Given the description of an element on the screen output the (x, y) to click on. 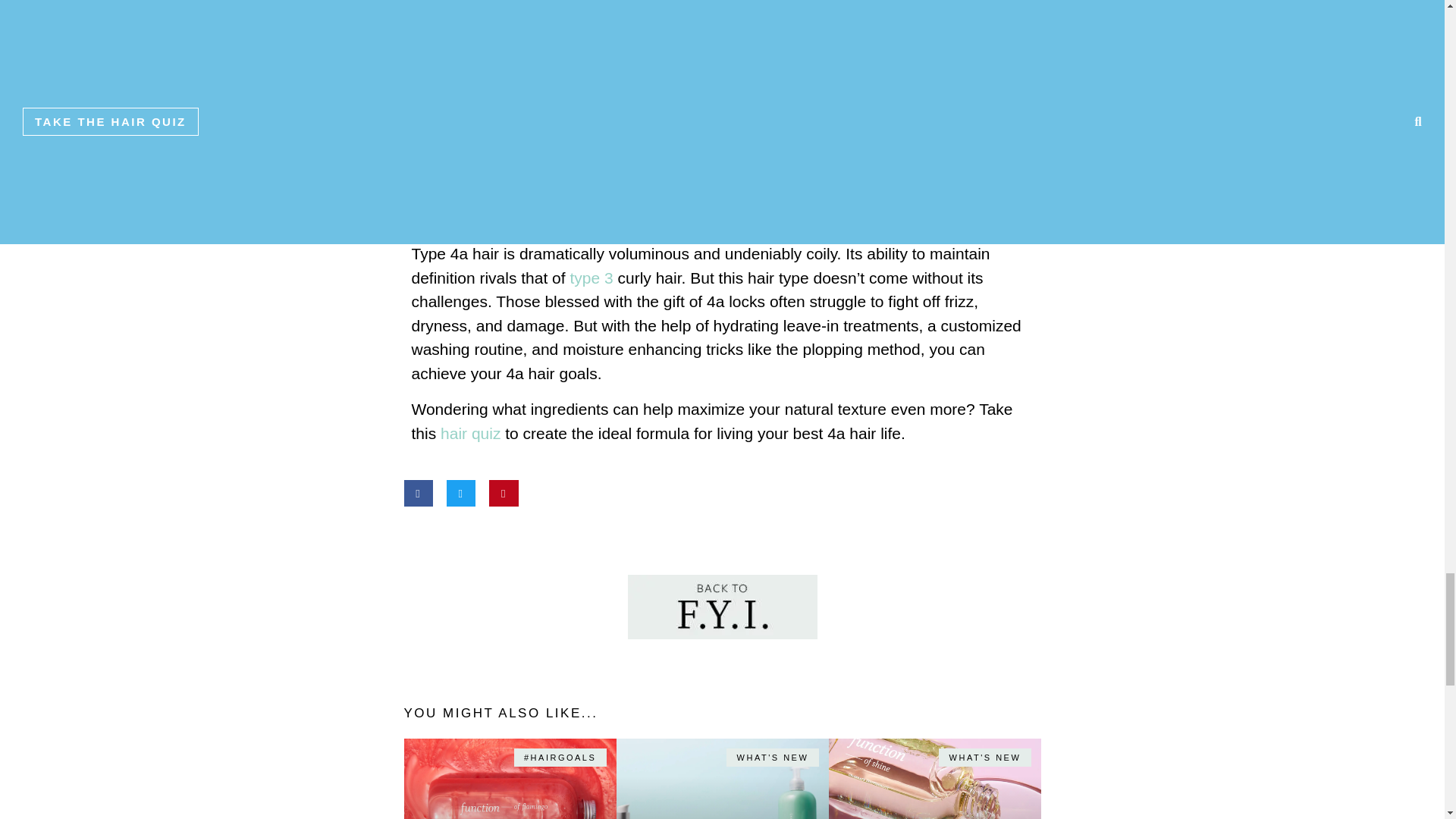
hair quiz (467, 433)
shampoo and conditioner (556, 88)
type 3 (589, 277)
